Given the description of an element on the screen output the (x, y) to click on. 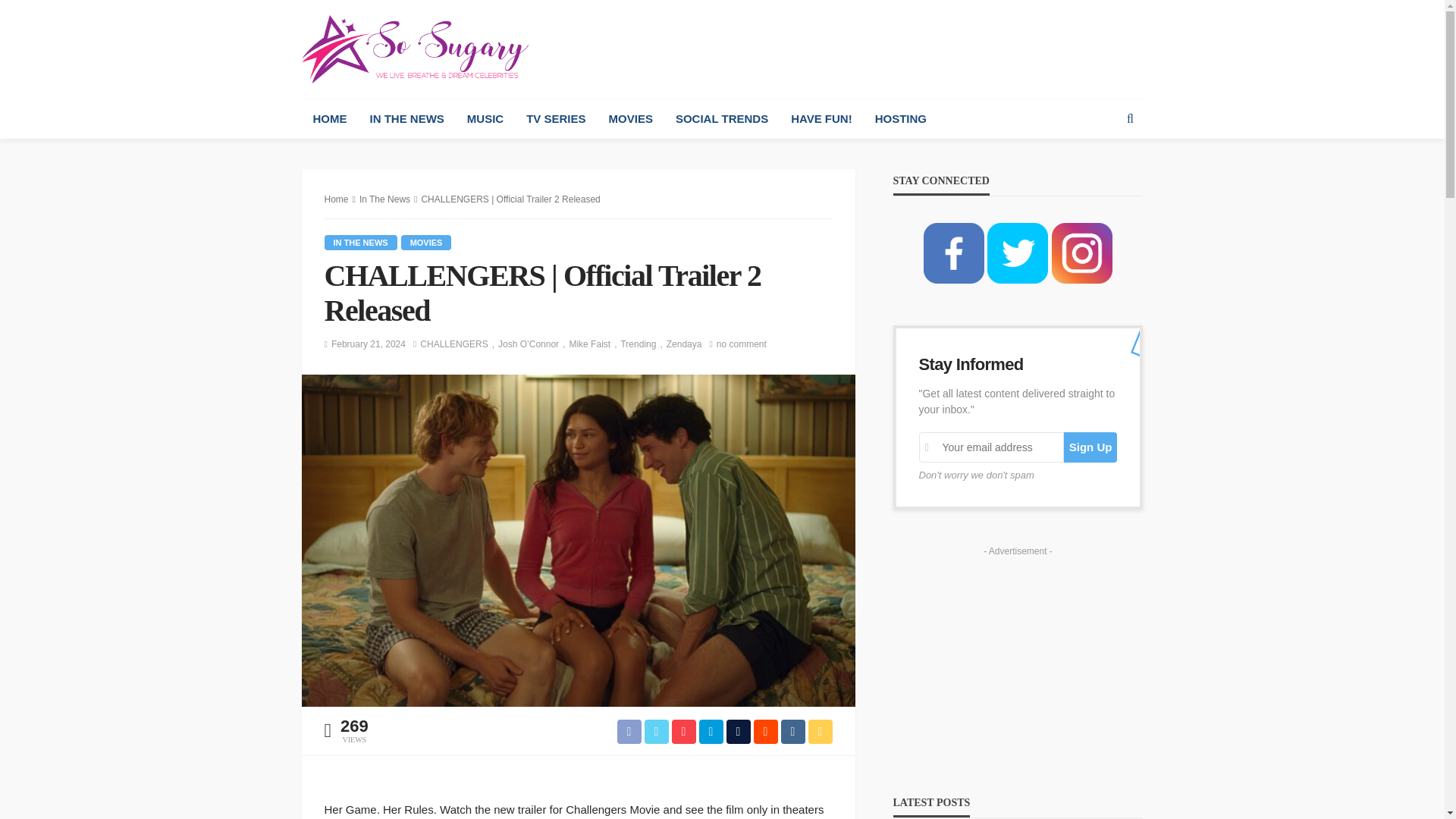
We Are So Sugary (414, 49)
Sign up (1091, 447)
In The News (360, 242)
Zendaya (683, 344)
IN THE NEWS (406, 118)
Mike Faist (594, 344)
Home (336, 199)
TV SERIES (555, 118)
Trending (642, 344)
MOVIES (426, 242)
CHALLENGERS (458, 344)
Advertisement (866, 49)
IN THE NEWS (360, 242)
Mike Faist (594, 344)
HOSTING (900, 118)
